Given the description of an element on the screen output the (x, y) to click on. 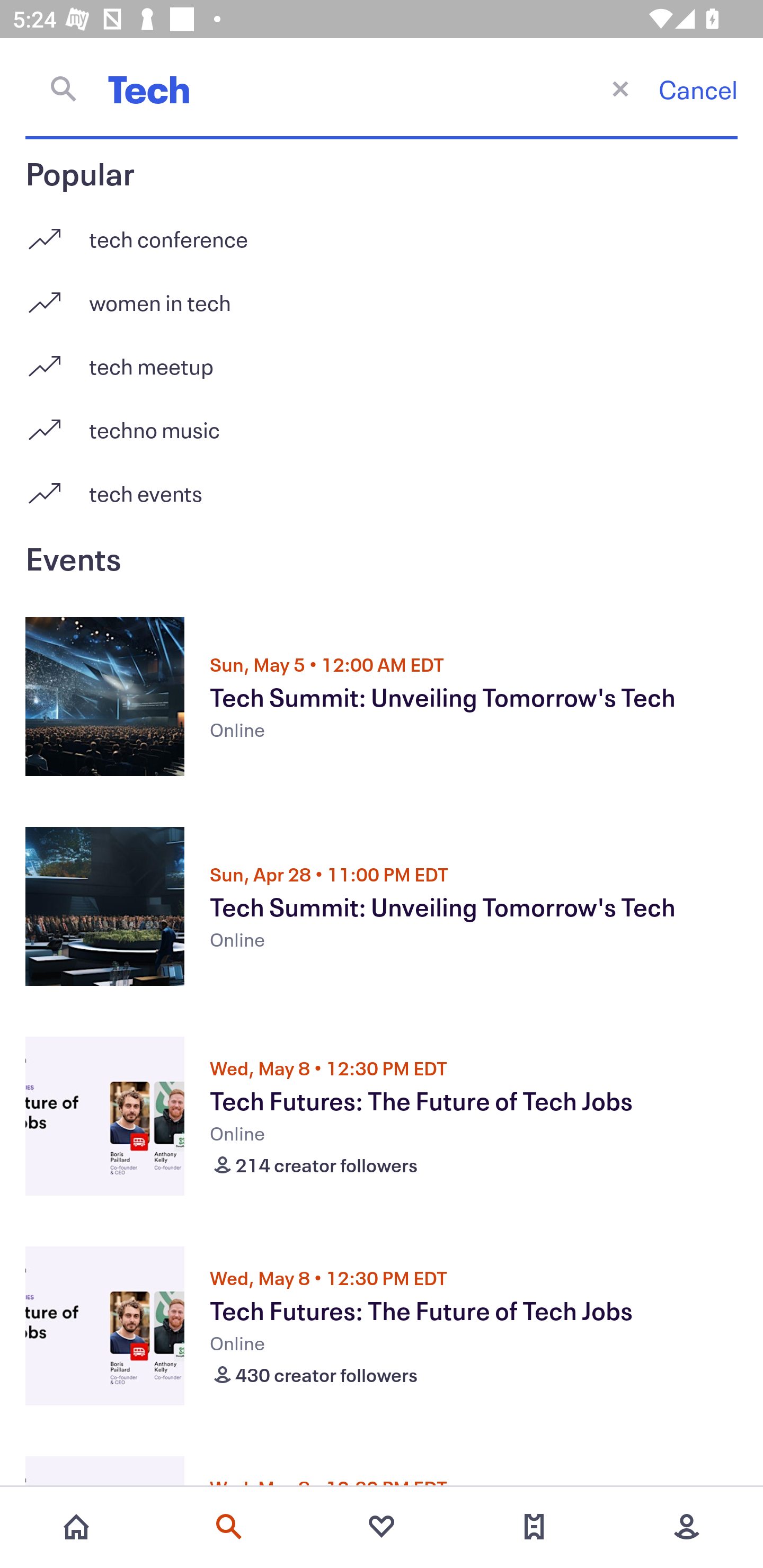
Tech Close current screen Cancel (381, 88)
Close current screen (620, 88)
Cancel (697, 89)
tech conference (381, 231)
women in tech (381, 295)
tech meetup (381, 358)
techno music (381, 422)
tech events (381, 492)
Home (76, 1526)
Search events (228, 1526)
Favorites (381, 1526)
Tickets (533, 1526)
More (686, 1526)
